Given the description of an element on the screen output the (x, y) to click on. 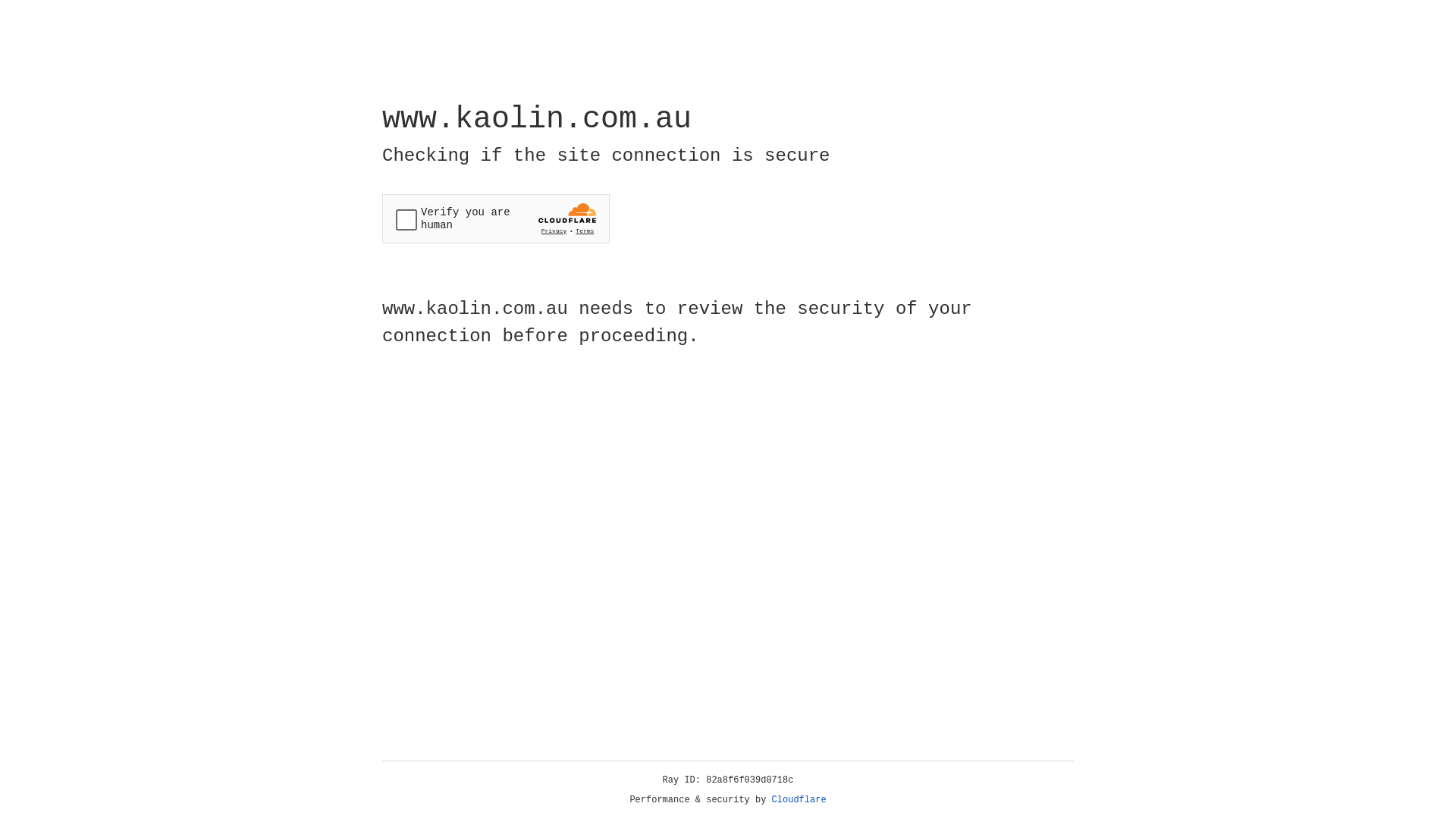
Widget containing a Cloudflare security challenge Element type: hover (495, 218)
Cloudflare Element type: text (798, 799)
